Given the description of an element on the screen output the (x, y) to click on. 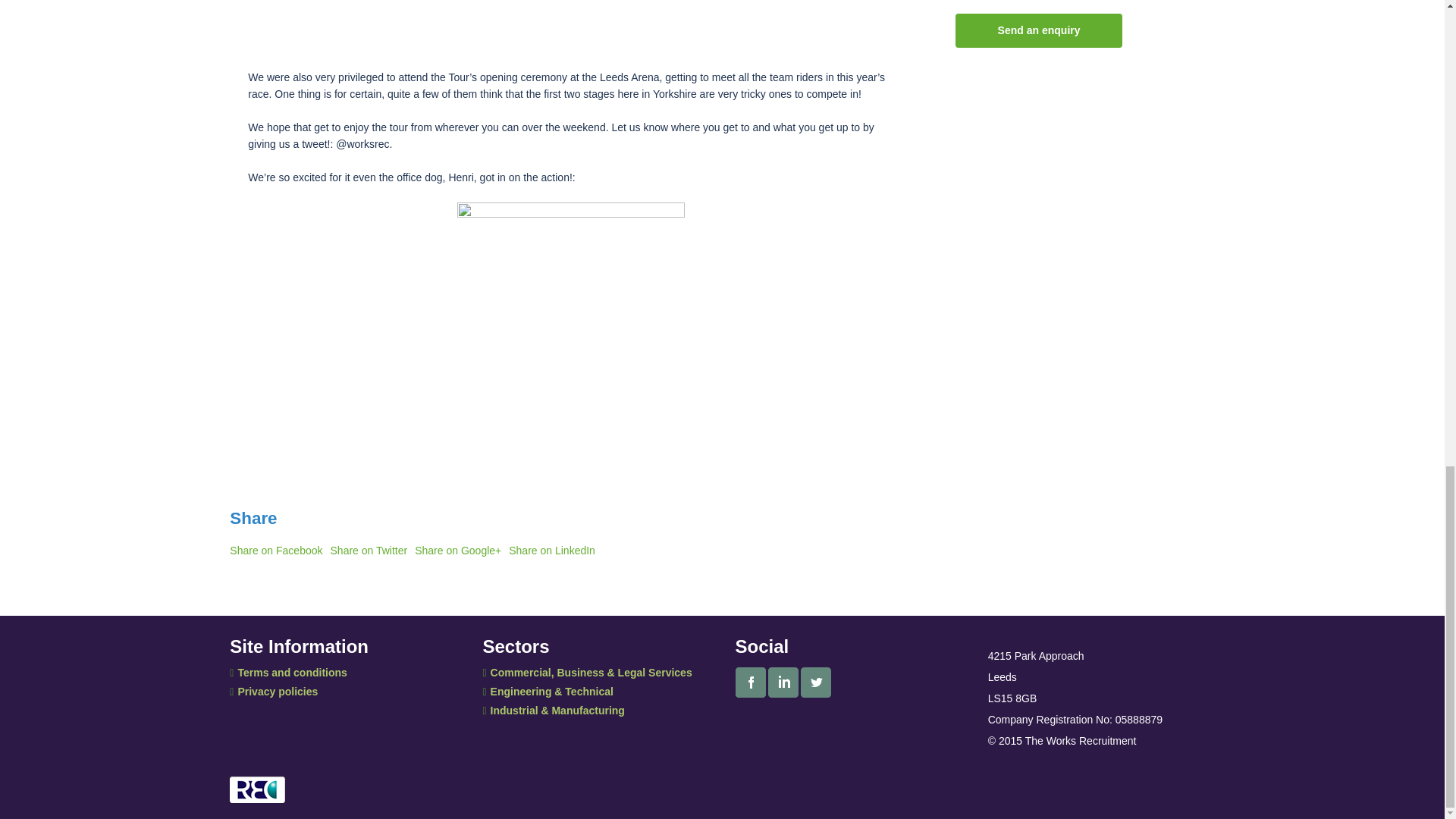
Send an enquiry (1038, 30)
Privacy policies (273, 691)
Share on LinkedIn (551, 550)
Share on Twitter (368, 550)
Terms and conditions (288, 672)
Share on Facebook (275, 550)
